Given the description of an element on the screen output the (x, y) to click on. 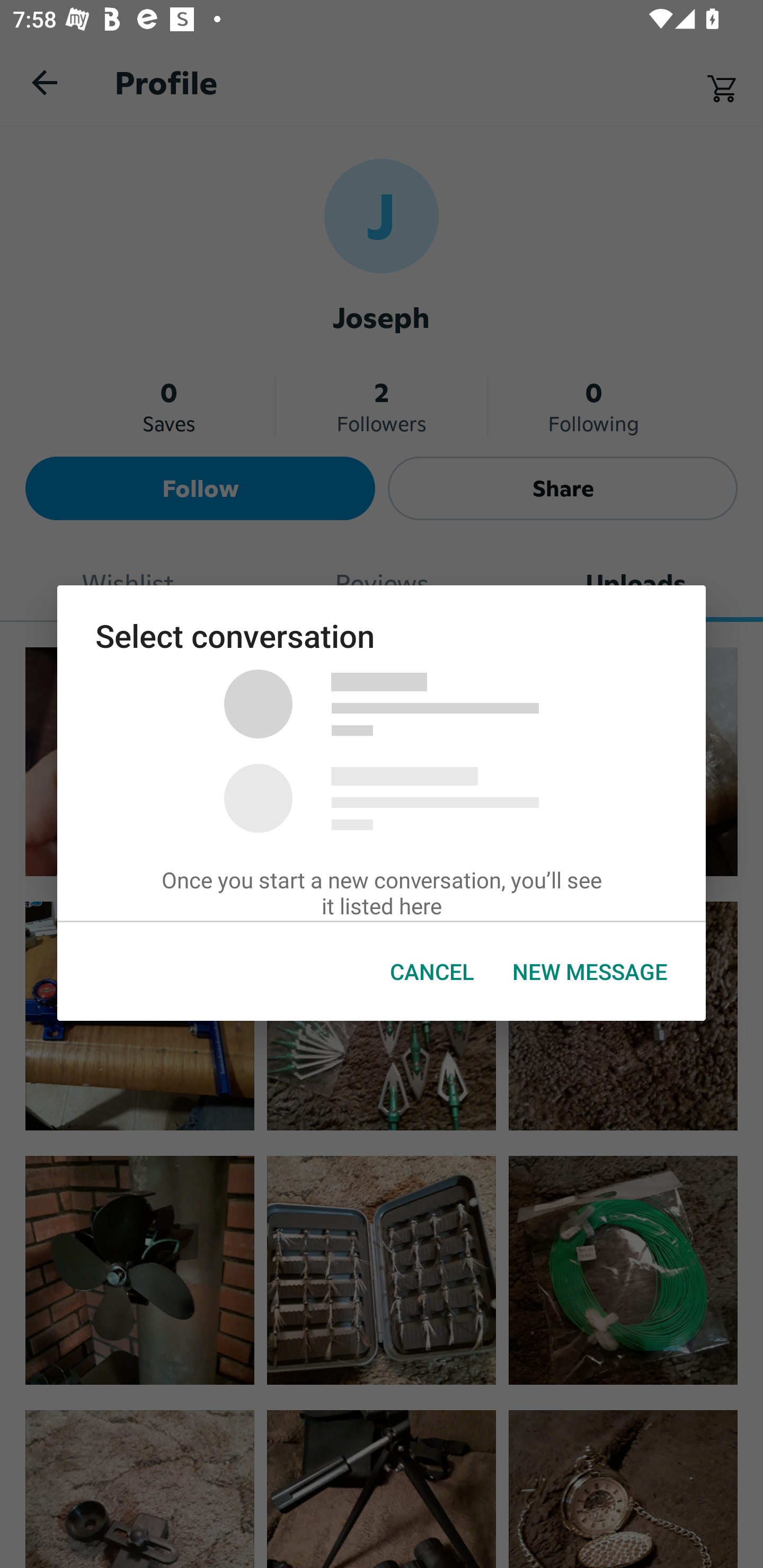
CANCEL (431, 971)
NEW MESSAGE (589, 971)
